Given the description of an element on the screen output the (x, y) to click on. 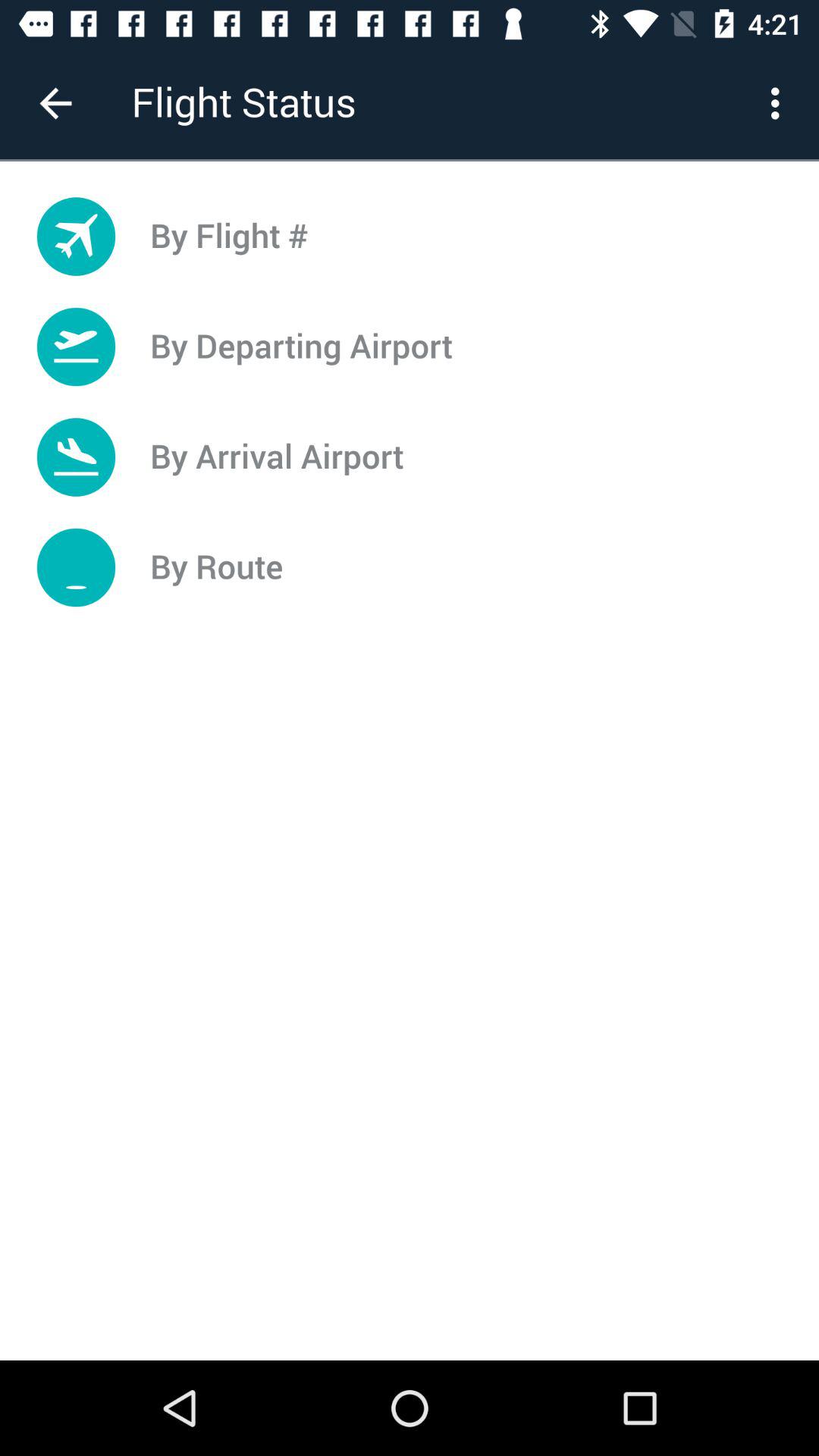
select the image left to by flight  (75, 236)
click on the 3 dots option on the top right (779, 103)
click on the symbol which is beside by route (75, 567)
click on the icon which is left to the by departing airport button (75, 346)
